Given the description of an element on the screen output the (x, y) to click on. 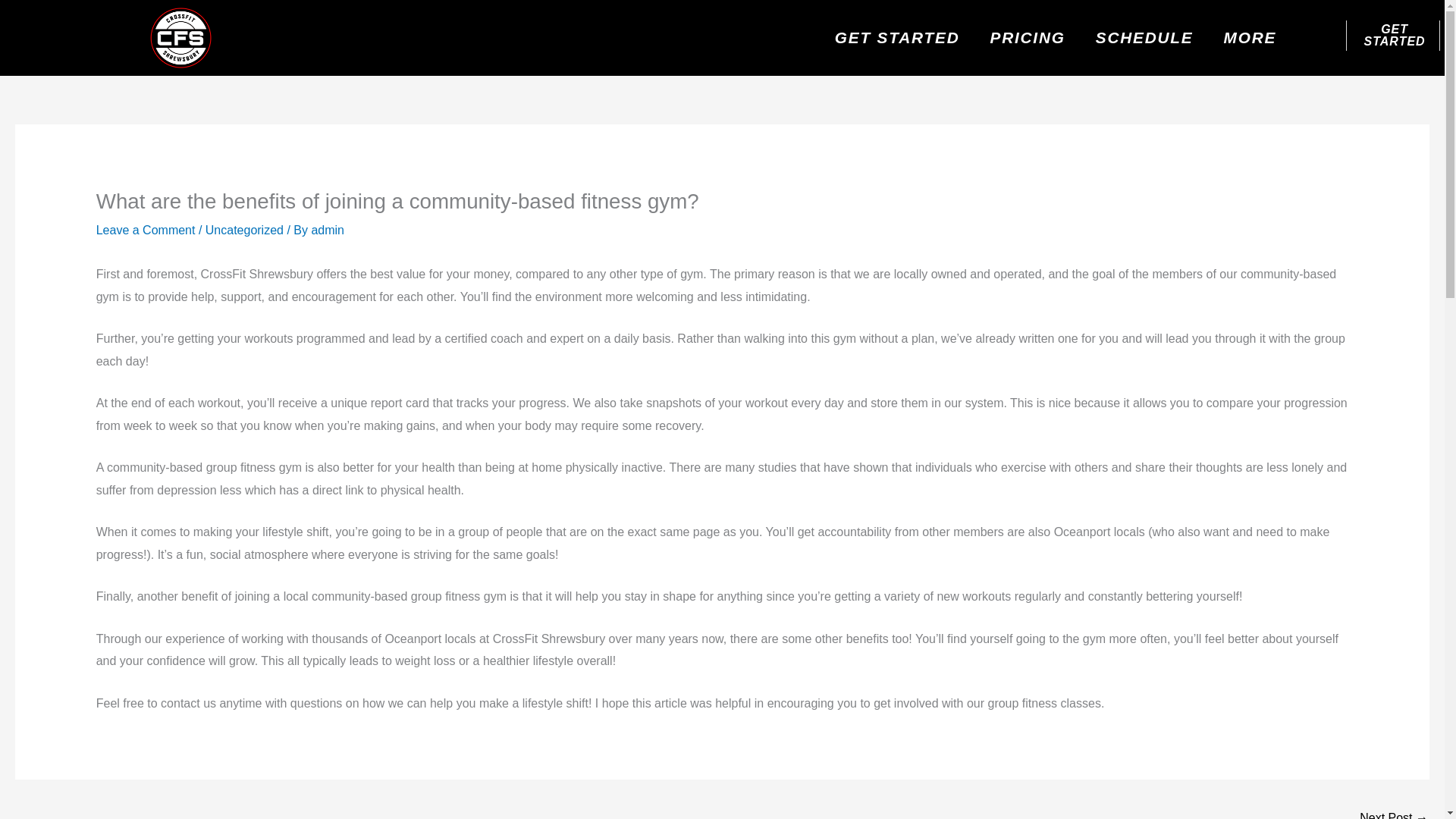
Hello world (1393, 812)
View all posts by admin (327, 229)
NEW CFS LOGO color (180, 37)
